Given the description of an element on the screen output the (x, y) to click on. 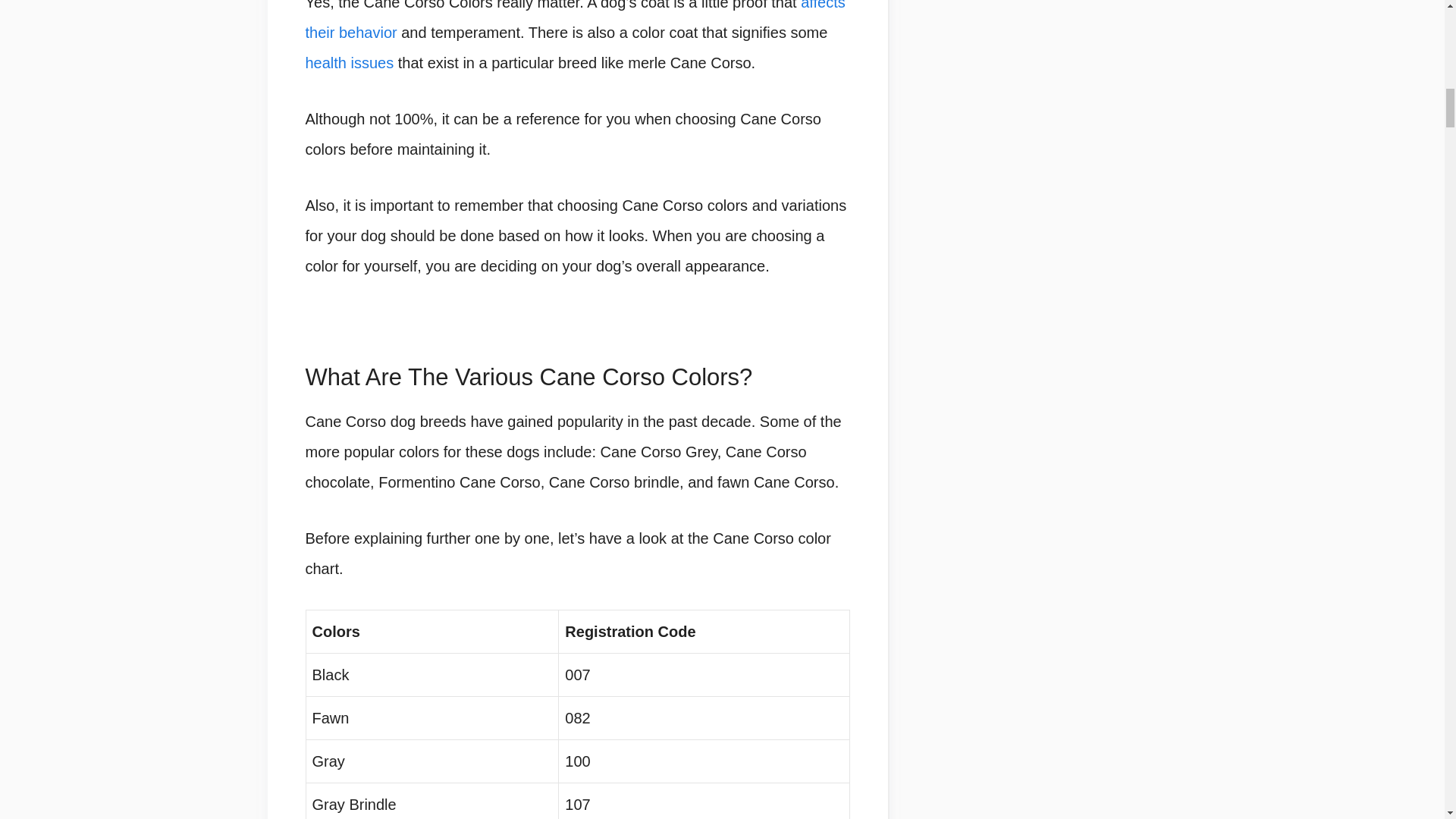
Dog Behavior Before Death : 9 Signs Your Dog Is Dying (574, 20)
Can Dogs Eat Banana Peppers? 7 Menacing Health Issues (348, 62)
